Given the description of an element on the screen output the (x, y) to click on. 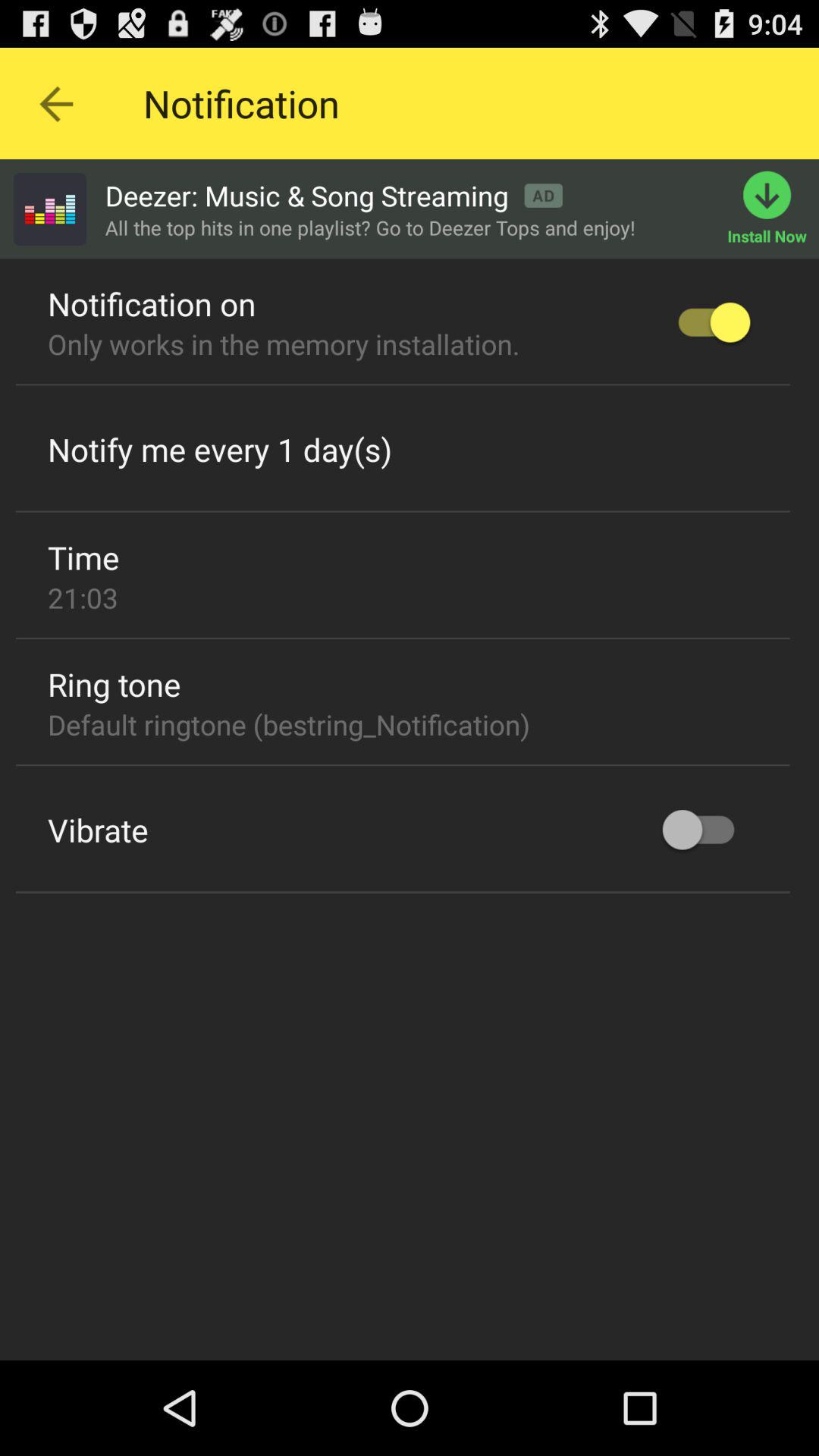
turn off the item above default ringtone (bestring_notification) (113, 683)
